Given the description of an element on the screen output the (x, y) to click on. 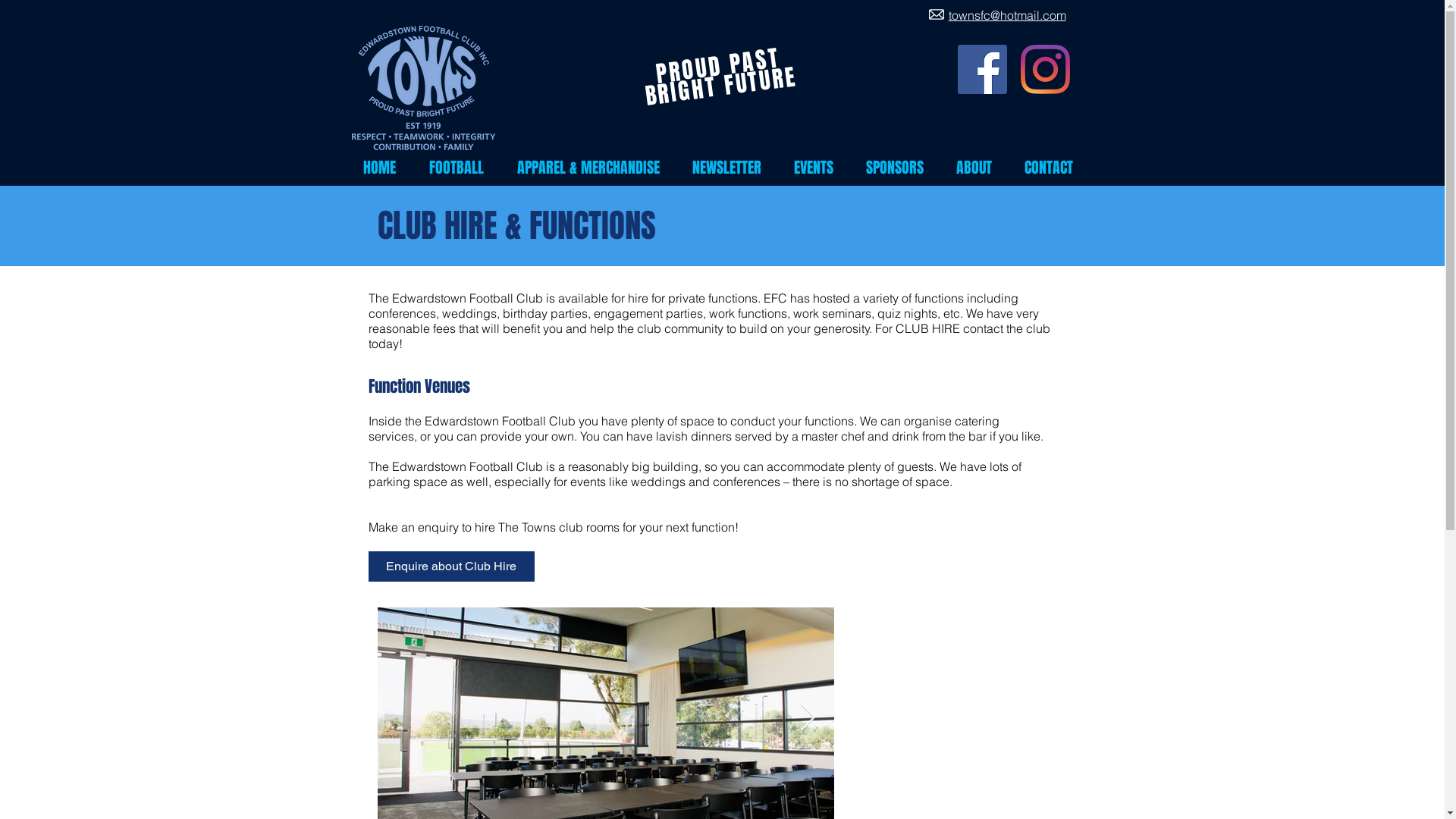
townsfc@hotmail.com Element type: text (1006, 14)
HOME Element type: text (384, 167)
EVENTS Element type: text (818, 167)
Edwardstown FC_Logo (Sky).png Element type: hover (423, 87)
NEWSLETTER Element type: text (731, 167)
FOOTBALL Element type: text (461, 167)
PROUD PAST
BRIGHT FUTURE Element type: text (719, 68)
APPAREL & MERCHANDISE Element type: text (592, 167)
SPONSORS Element type: text (898, 167)
CONTACT Element type: text (1053, 167)
Enquire about Club Hire Element type: text (451, 566)
ABOUT Element type: text (978, 167)
